Given the description of an element on the screen output the (x, y) to click on. 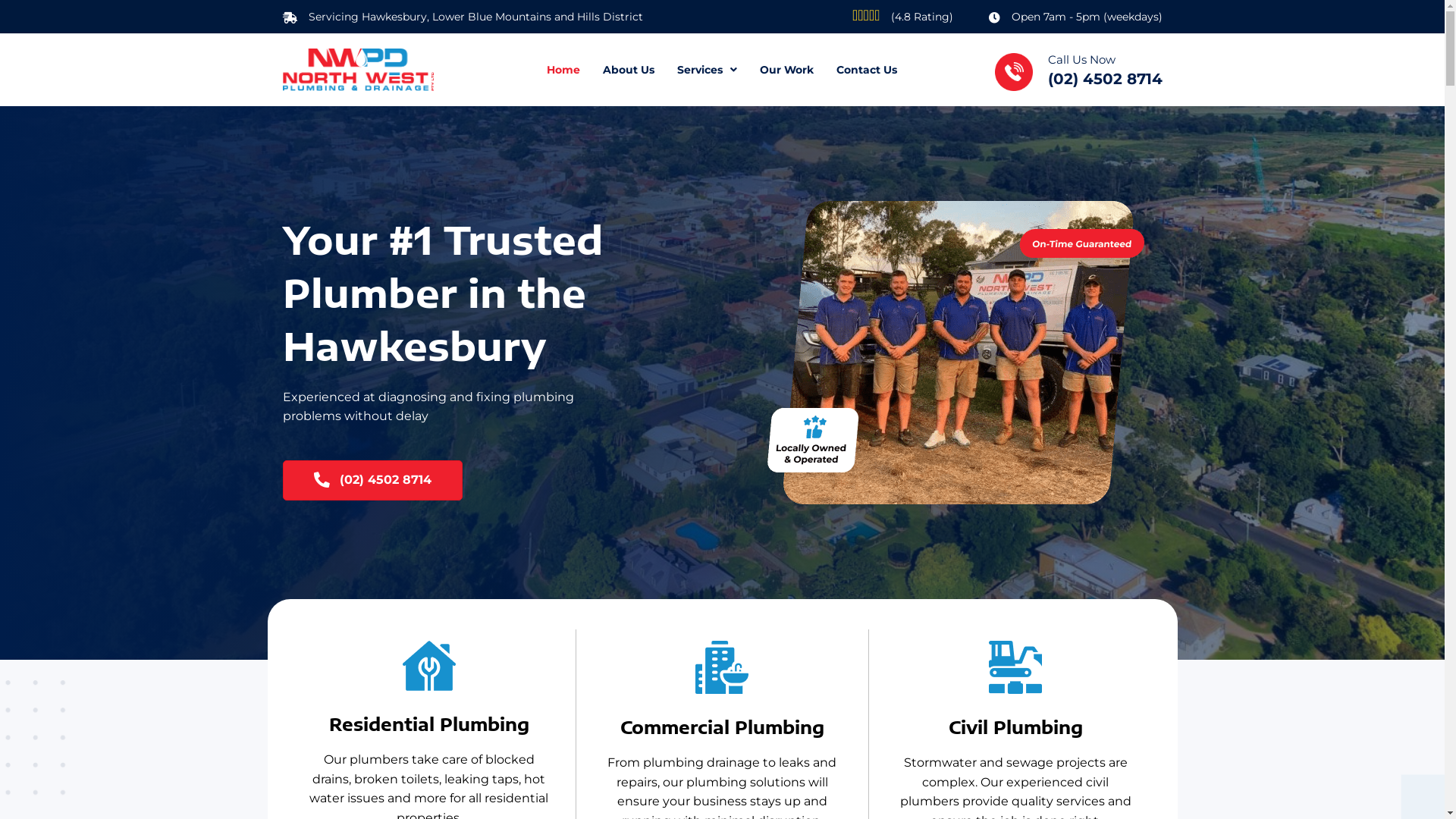
About Us Element type: text (628, 69)
(02) 4502 8714 Element type: text (371, 480)
Contact Us Element type: text (866, 69)
Services Element type: text (706, 69)
Civil Plumbing Element type: hover (1014, 666)
logo Element type: hover (357, 69)
call (3) Element type: hover (1013, 72)
header-1-min Element type: hover (949, 356)
Our Work Element type: text (786, 69)
Home Element type: text (563, 69)
Commercial Plumbing Element type: hover (721, 666)
Residential Plumbing Element type: hover (428, 665)
